Given the description of an element on the screen output the (x, y) to click on. 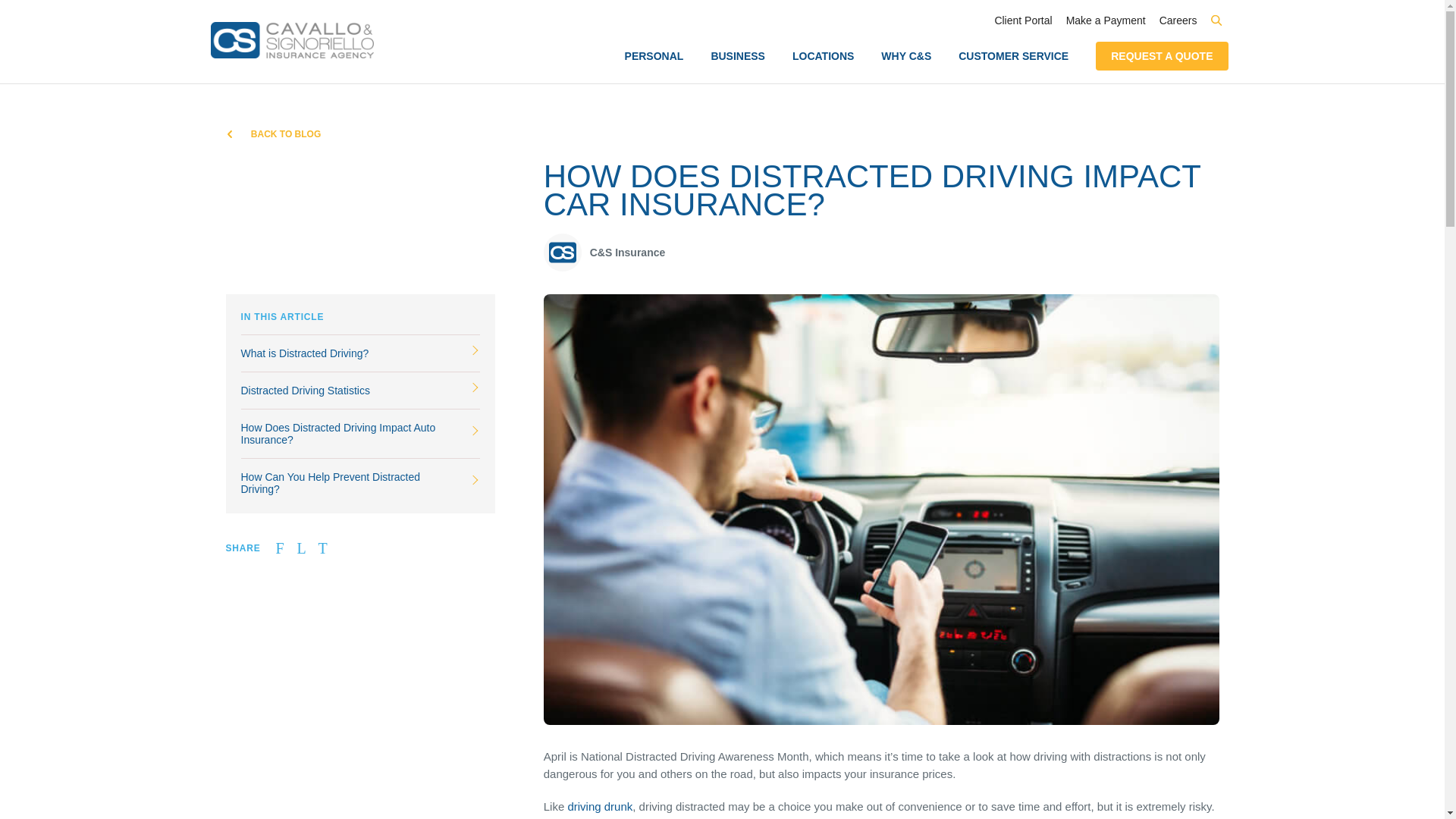
BOP Insurance (348, 167)
PERSONAL (654, 55)
Make a Payment (1105, 20)
Client Portal (1022, 20)
Umbrella Insurance (757, 220)
General Liability Insurance (588, 293)
Coastal Business Property Insurance (588, 324)
Pet Insurance (1007, 157)
Arborist Insurance (856, 167)
Careers (1177, 20)
Back to Blog (273, 133)
BUSINESS (737, 55)
Industries (975, 127)
Commercial Business Interruption Insurance (588, 206)
Construction Insurance (856, 292)
